Given the description of an element on the screen output the (x, y) to click on. 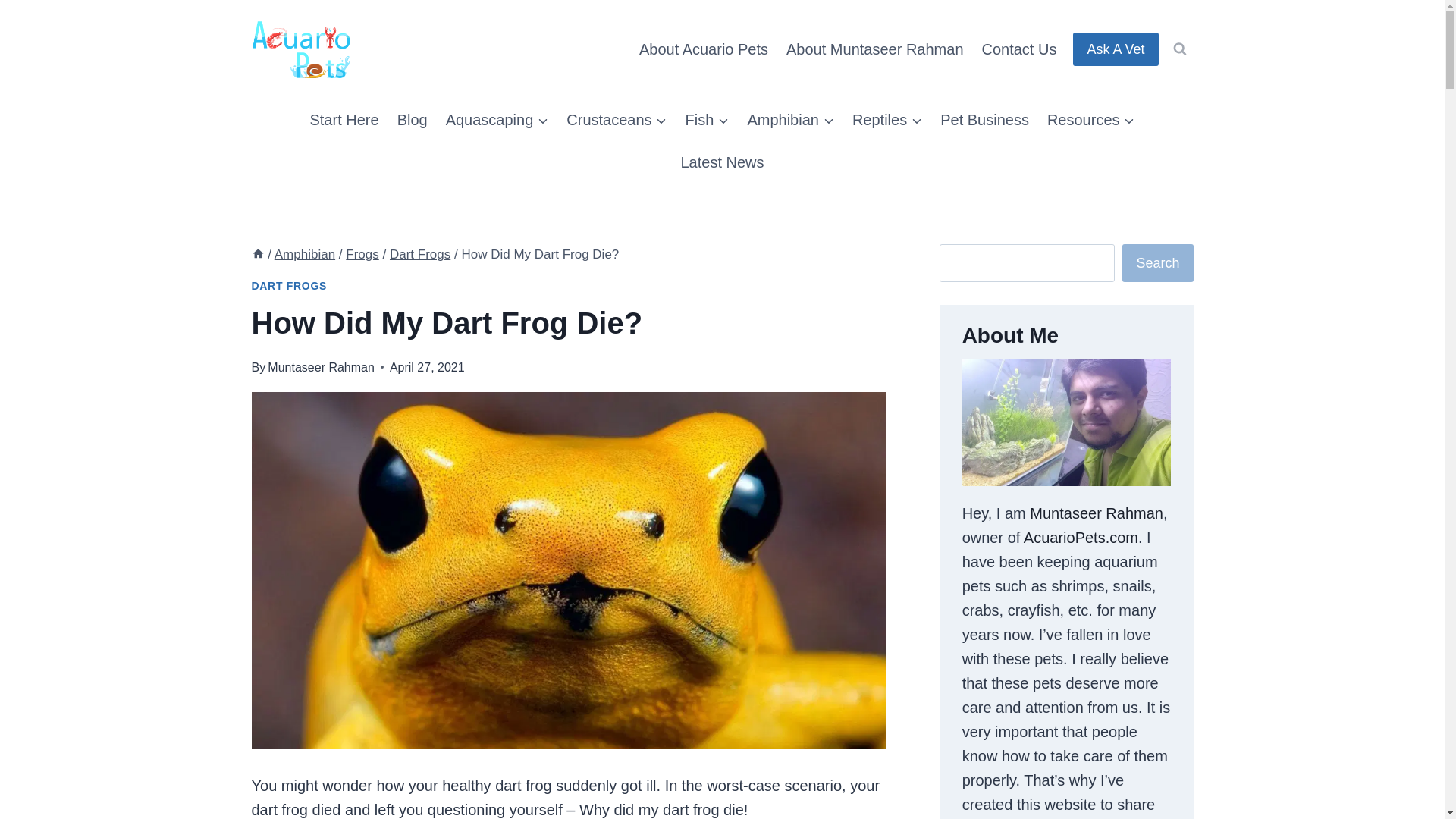
Crustaceans (616, 119)
Reptiles (887, 119)
Start Here (343, 119)
Home (257, 254)
Ask A Vet (1115, 48)
Blog (412, 119)
Amphibian (790, 119)
About Muntaseer Rahman (874, 48)
About Acuario Pets (703, 48)
Contact Us (1018, 48)
Fish (707, 119)
Aquascaping (496, 119)
